Given the description of an element on the screen output the (x, y) to click on. 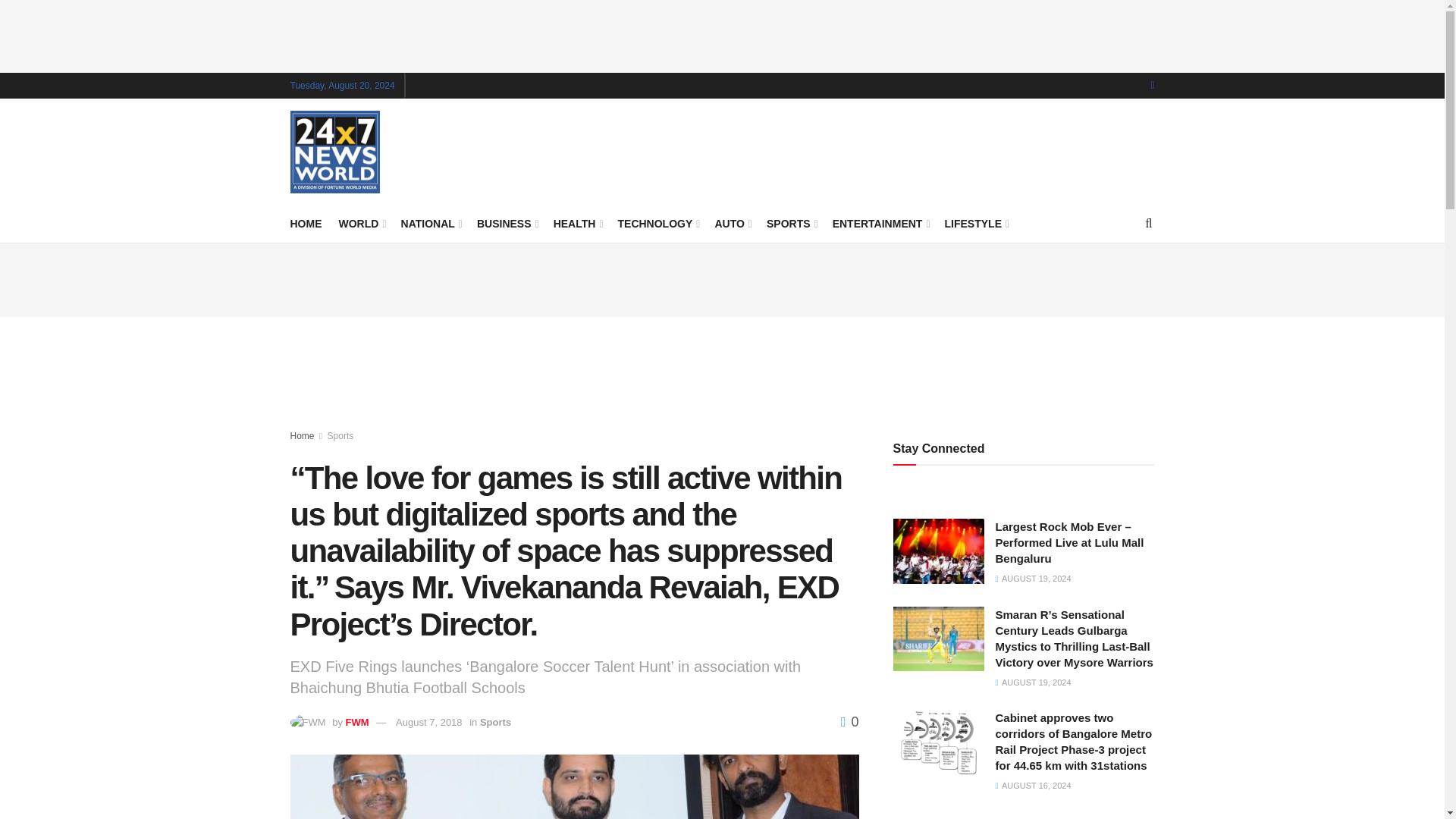
BUSINESS (507, 223)
HEALTH (577, 223)
NATIONAL (430, 223)
WORLD (360, 223)
HOME (305, 223)
